Given the description of an element on the screen output the (x, y) to click on. 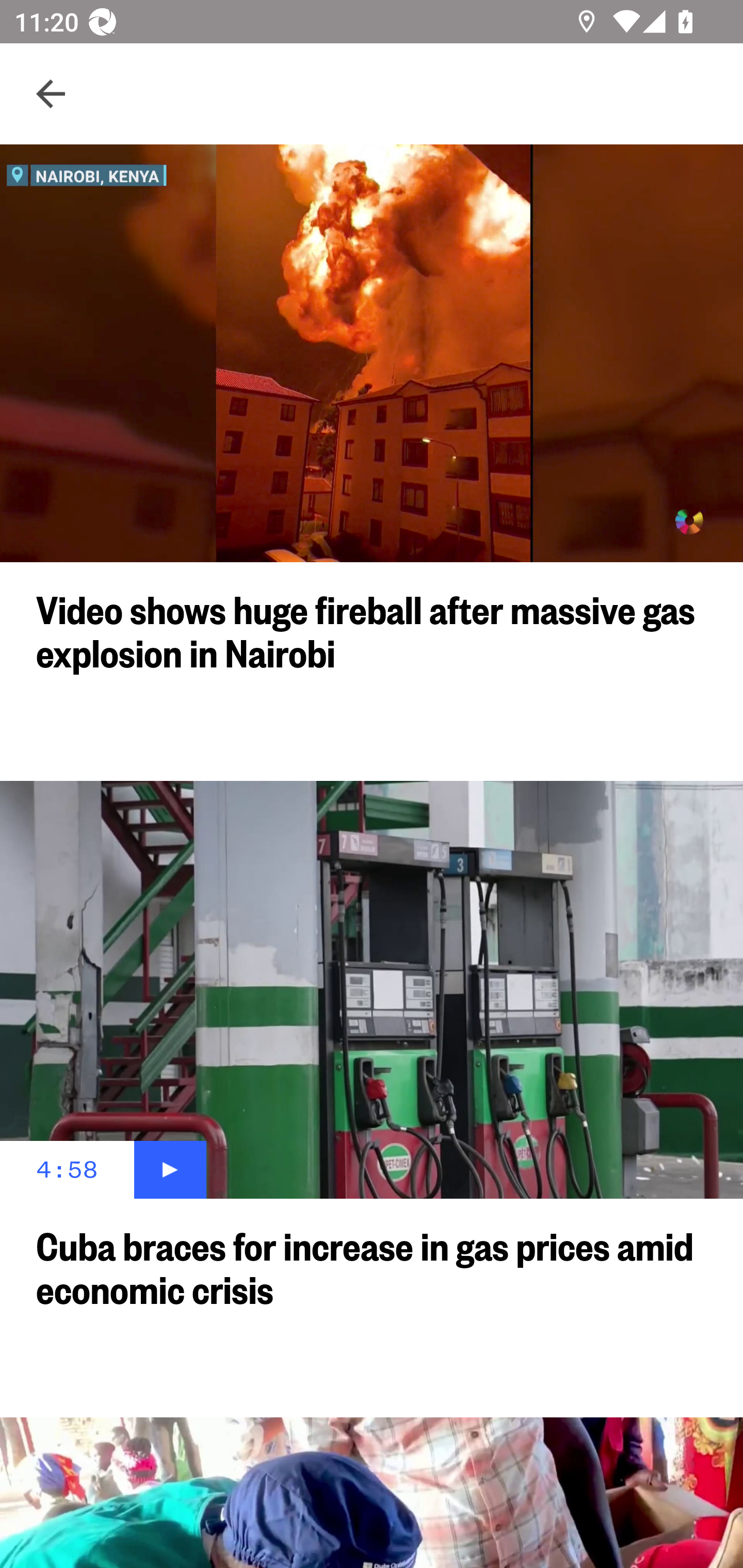
Navigate up (50, 93)
